Given the description of an element on the screen output the (x, y) to click on. 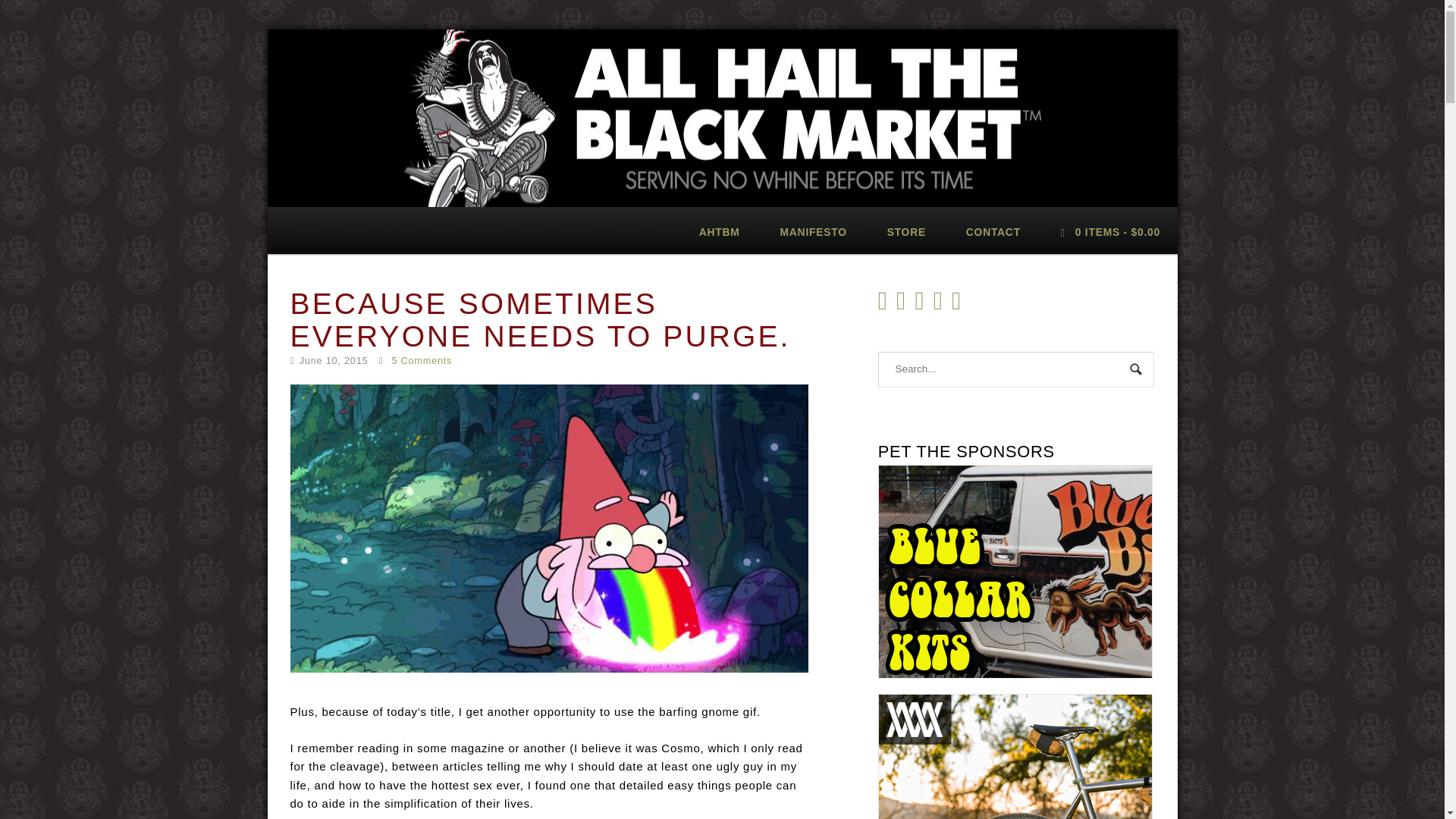
Instagram (922, 306)
Search (1136, 370)
STORE (905, 230)
Twitter (903, 306)
Search (1136, 370)
View your shopping cart (1109, 230)
AHTBM (719, 230)
RSS (885, 306)
MANIFESTO (812, 230)
5 Comments (421, 360)
CONTACT (992, 230)
